Given the description of an element on the screen output the (x, y) to click on. 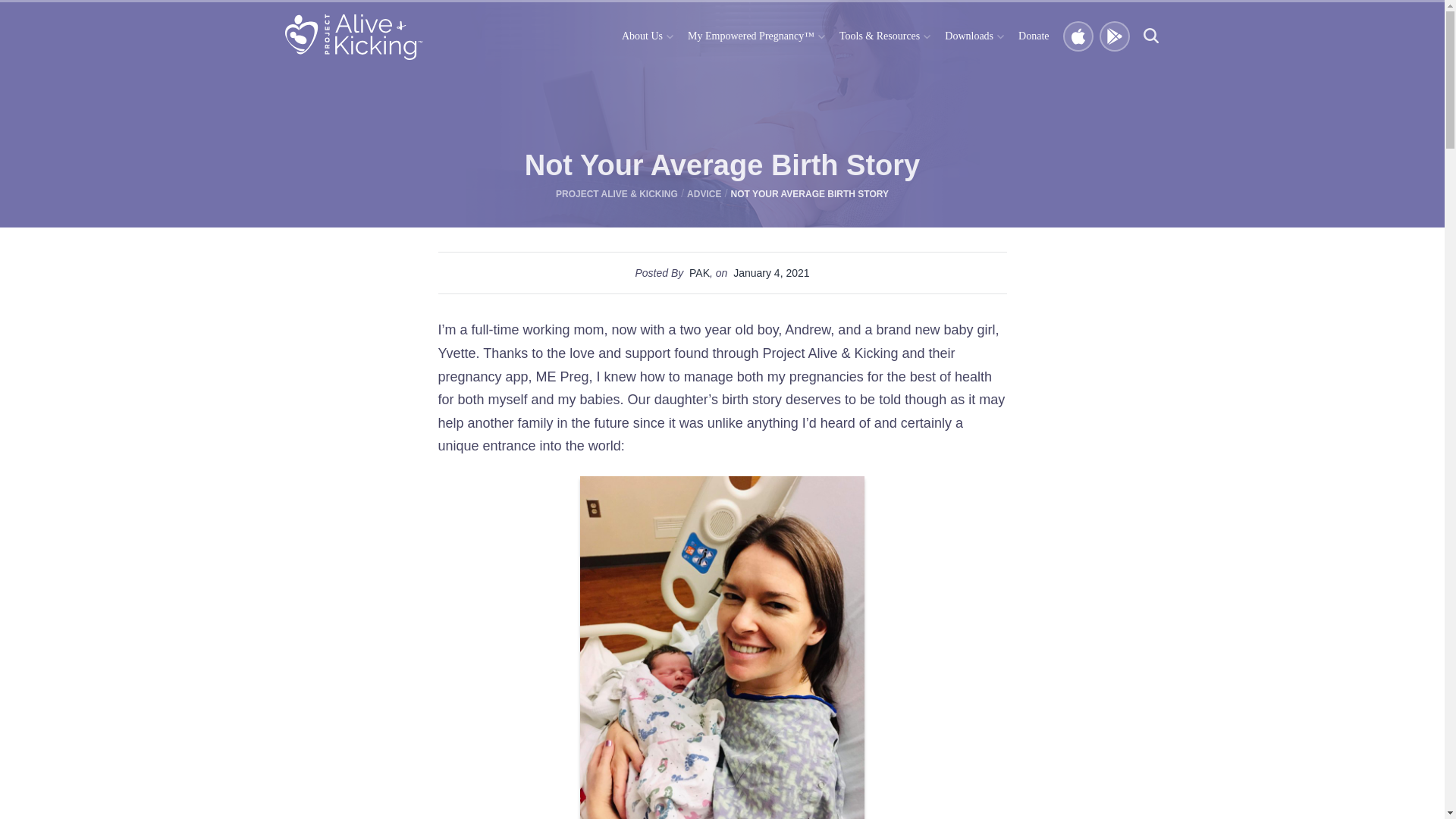
Donate (1033, 36)
About Us (646, 36)
GET ANDROID APP (1114, 36)
Downloads (973, 36)
GET IOS APP (1078, 36)
ADVICE (703, 194)
Go to the Advice category archives. (703, 194)
